Given the description of an element on the screen output the (x, y) to click on. 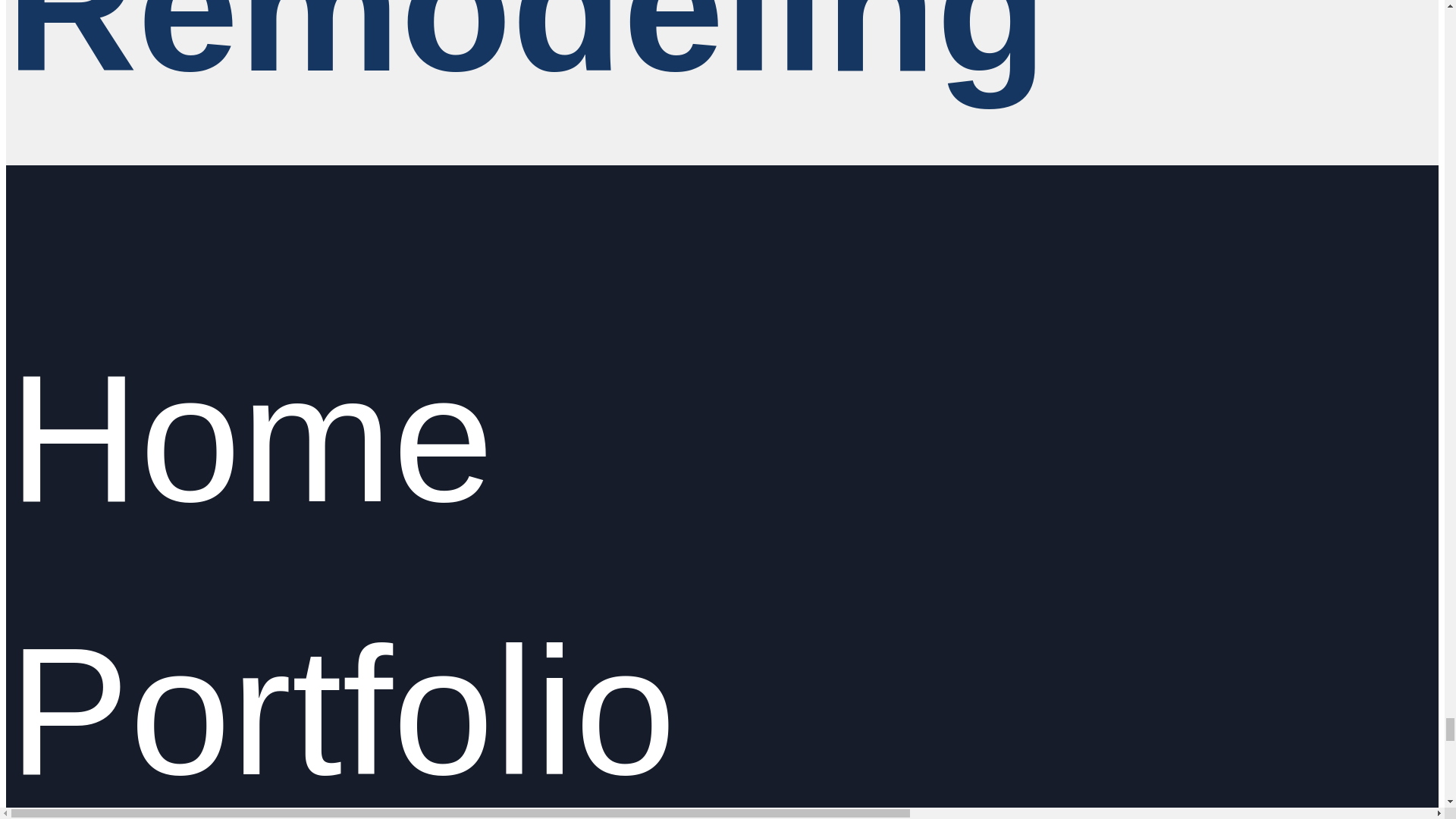
Home (250, 445)
